Given the description of an element on the screen output the (x, y) to click on. 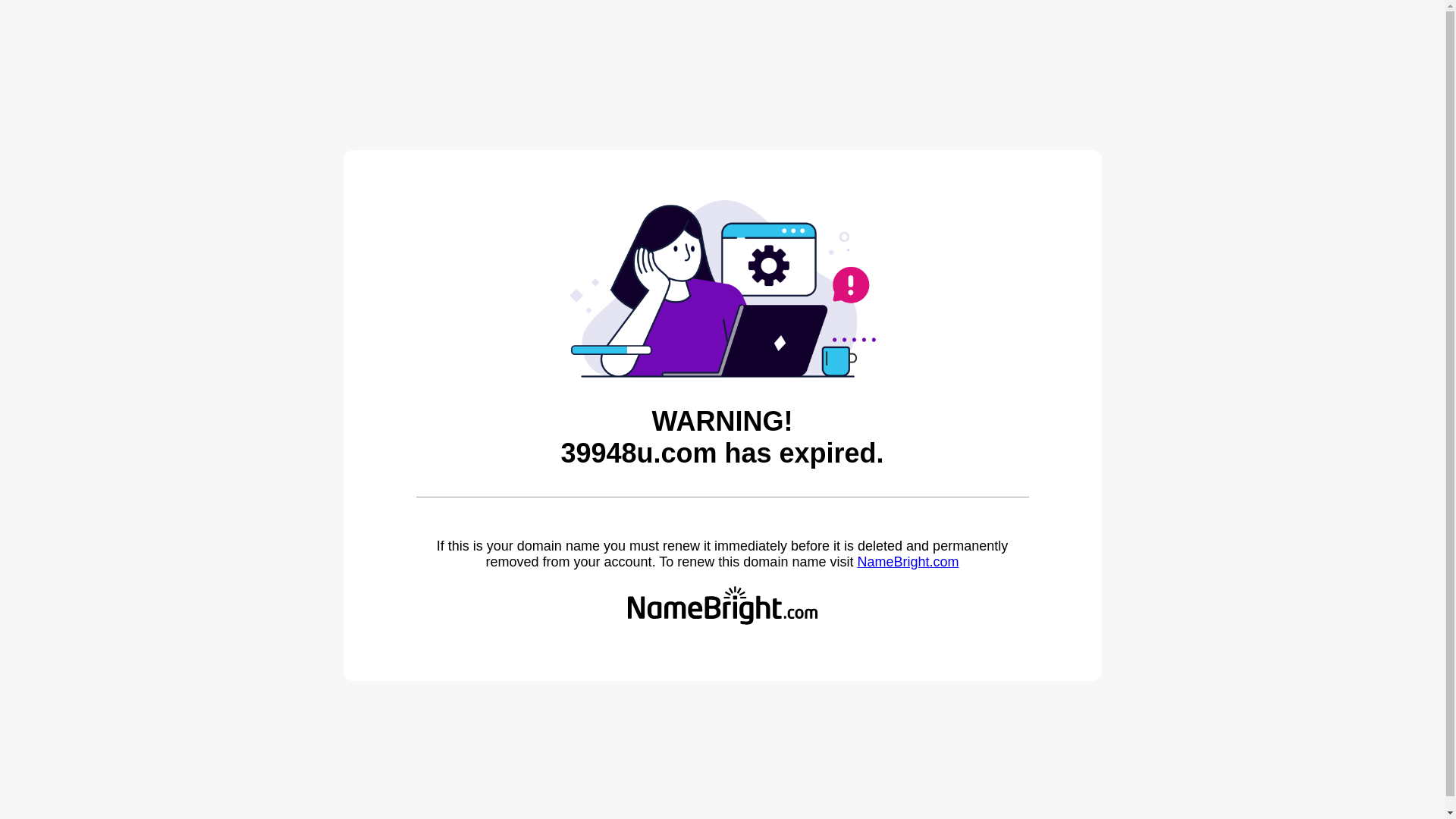
NameBright.com Element type: text (907, 561)
